Given the description of an element on the screen output the (x, y) to click on. 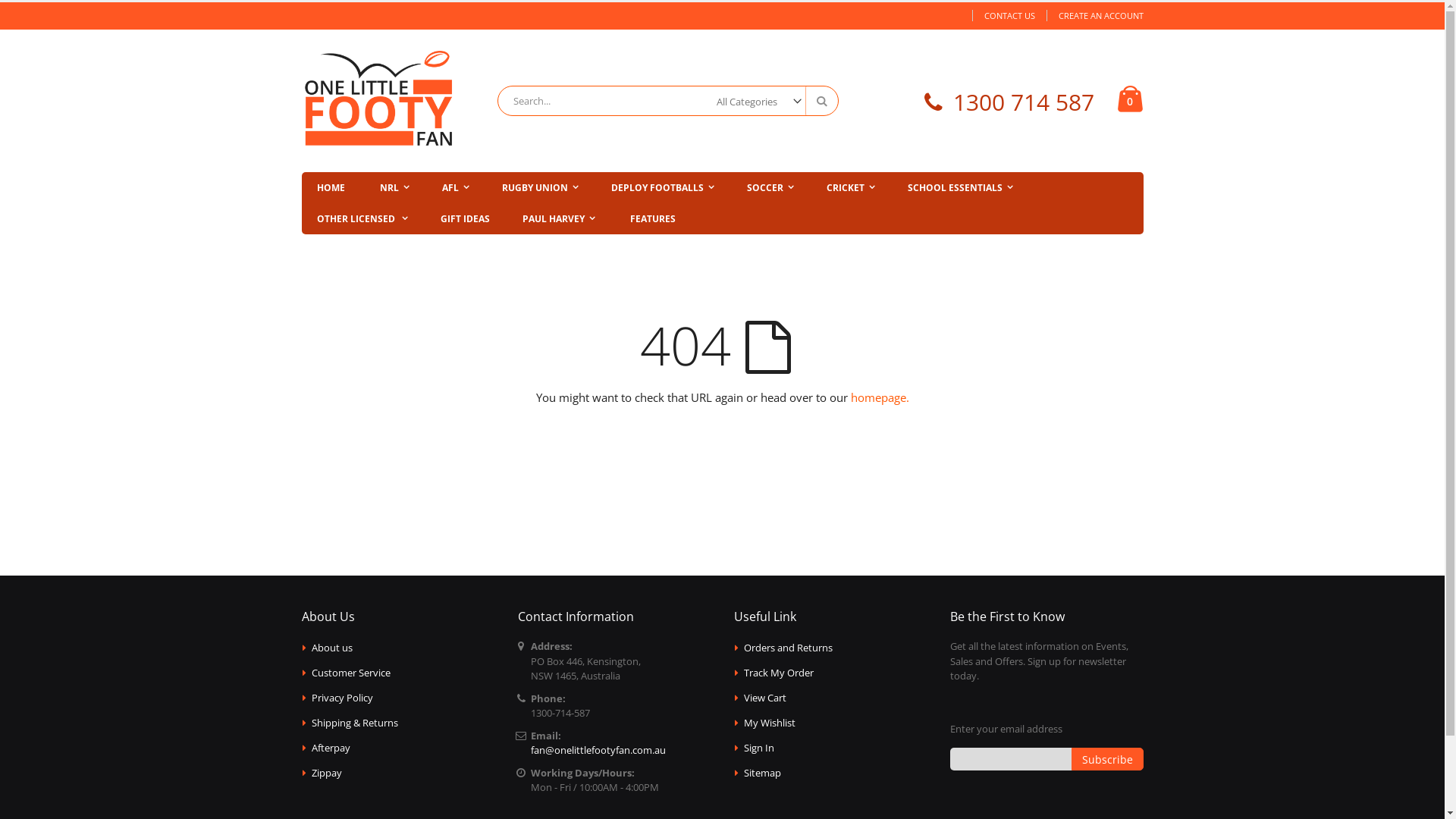
Sign In Element type: text (758, 747)
NRL Element type: text (393, 187)
View Cart Element type: text (764, 697)
Zippay Element type: text (326, 772)
One Little Footy Fan Element type: hover (377, 100)
AFL Element type: text (454, 187)
Shipping & Returns Element type: text (354, 722)
SCHOOL ESSENTIALS Element type: text (959, 187)
Cart
0 Element type: text (1129, 100)
Search Element type: text (821, 100)
OTHER LICENSED Element type: text (362, 218)
Afterpay Element type: text (330, 747)
Privacy Policy Element type: text (342, 697)
Subscribe Element type: text (1106, 758)
Orders and Returns Element type: text (787, 647)
Track My Order Element type: text (778, 672)
fan@onelittlefootyfan.com.au Element type: text (597, 749)
My Wishlist Element type: text (769, 722)
FEATURES Element type: text (652, 218)
DEPLOY FOOTBALLS Element type: text (662, 187)
CONTACT US Element type: text (1009, 15)
About us Element type: text (331, 647)
CRICKET Element type: text (850, 187)
Customer Service Element type: text (350, 672)
1300 714 587 Element type: text (1022, 101)
SOCCER Element type: text (769, 187)
homepage. Element type: text (879, 396)
CREATE AN ACCOUNT Element type: text (1094, 15)
Skip to Content Element type: text (300, 9)
PAUL HARVEY Element type: text (557, 218)
Sitemap Element type: text (762, 772)
RUGBY UNION Element type: text (539, 187)
HOME Element type: text (330, 187)
GIFT IDEAS Element type: text (464, 218)
